Given the description of an element on the screen output the (x, y) to click on. 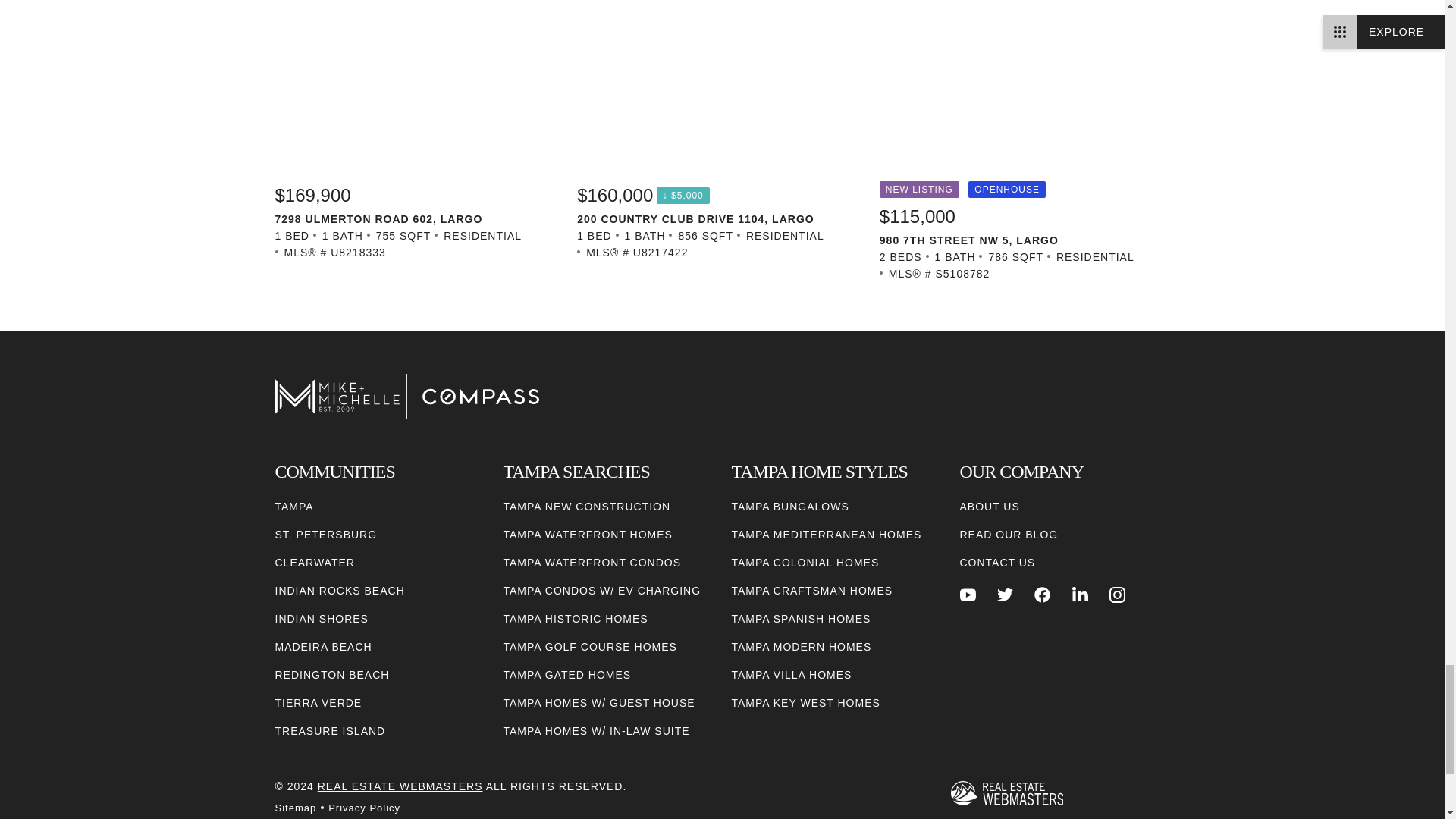
FACEBOOK (1041, 594)
TWITTER (1005, 594)
LINKEDIN (1079, 594)
YOUTUBE (967, 594)
